Given the description of an element on the screen output the (x, y) to click on. 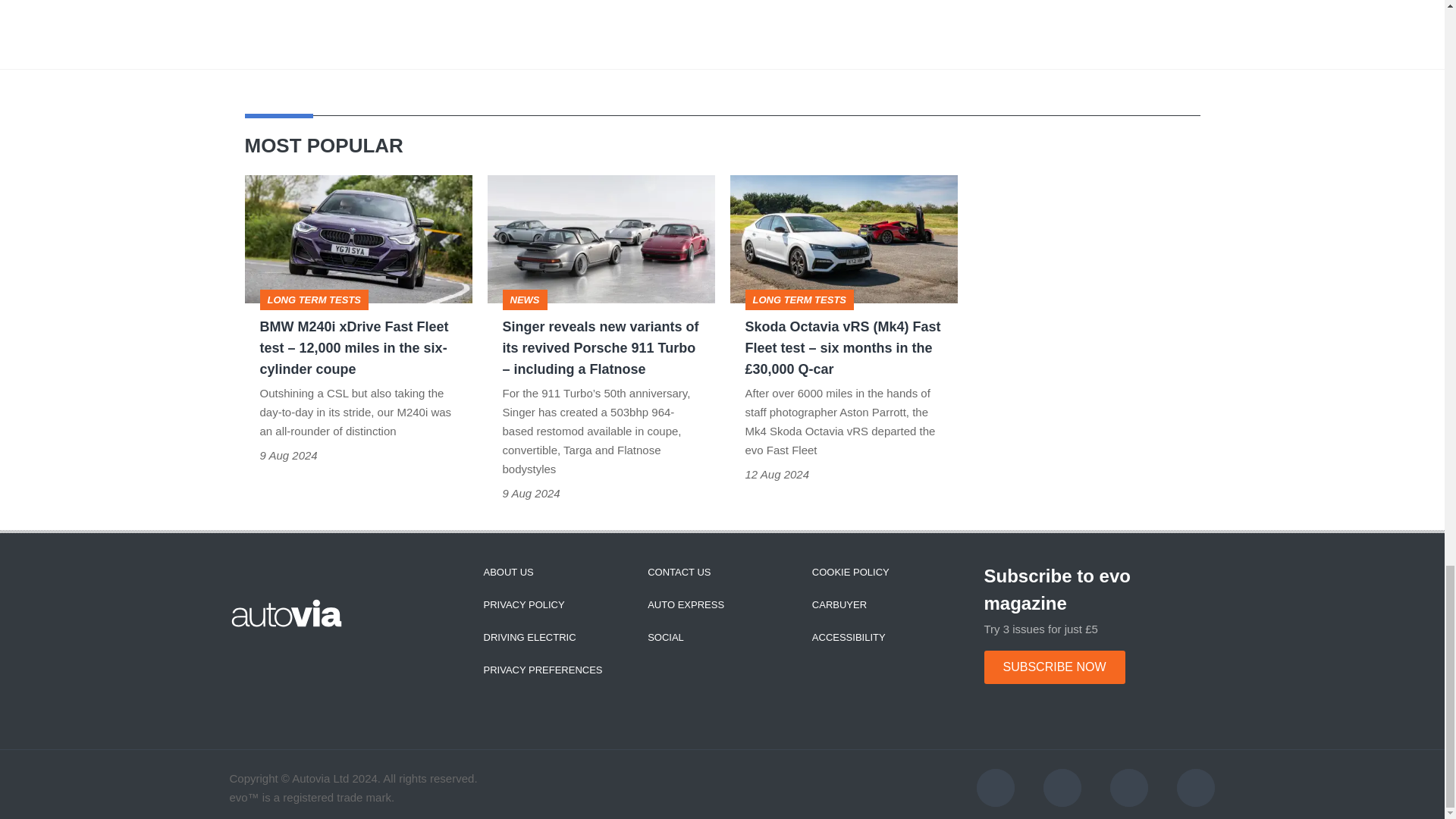
COOKIE POLICY (850, 572)
Subscribe now (1054, 666)
CONTACT US (678, 572)
ABOUT US (508, 572)
PRIVACY POLICY (523, 604)
